Given the description of an element on the screen output the (x, y) to click on. 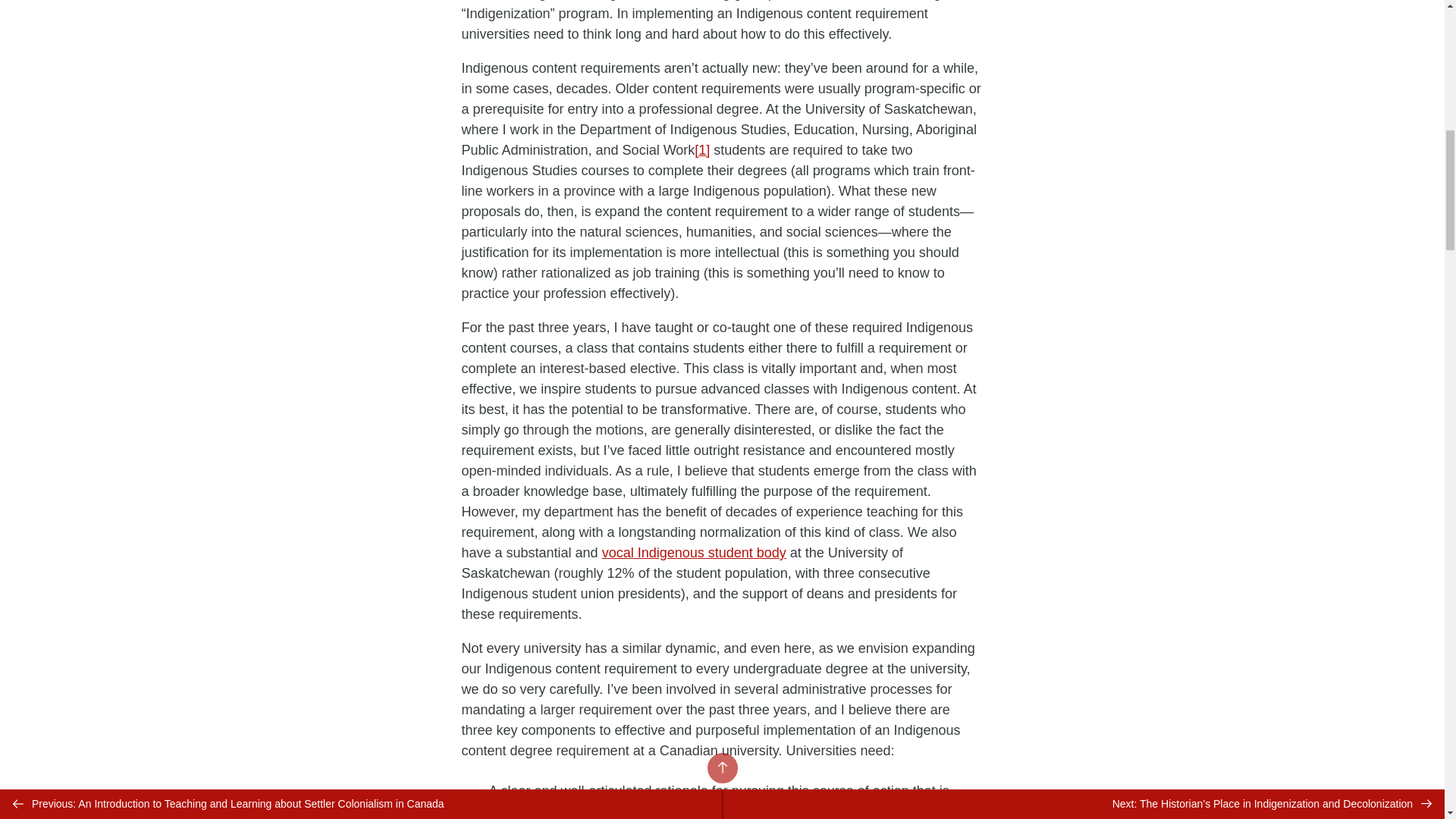
vocal Indigenous student body (694, 552)
